Given the description of an element on the screen output the (x, y) to click on. 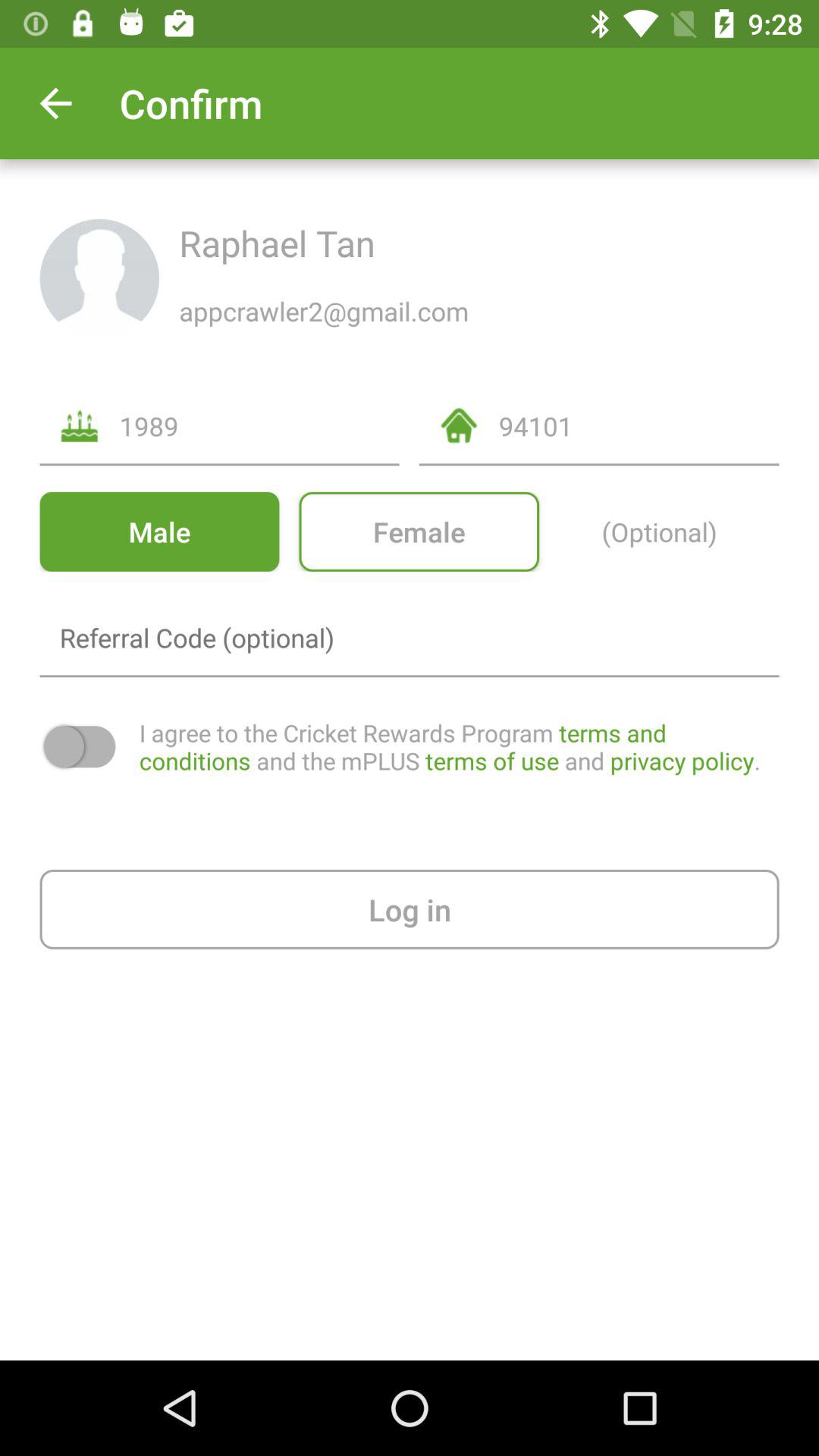
tap item next to the female item (159, 531)
